Given the description of an element on the screen output the (x, y) to click on. 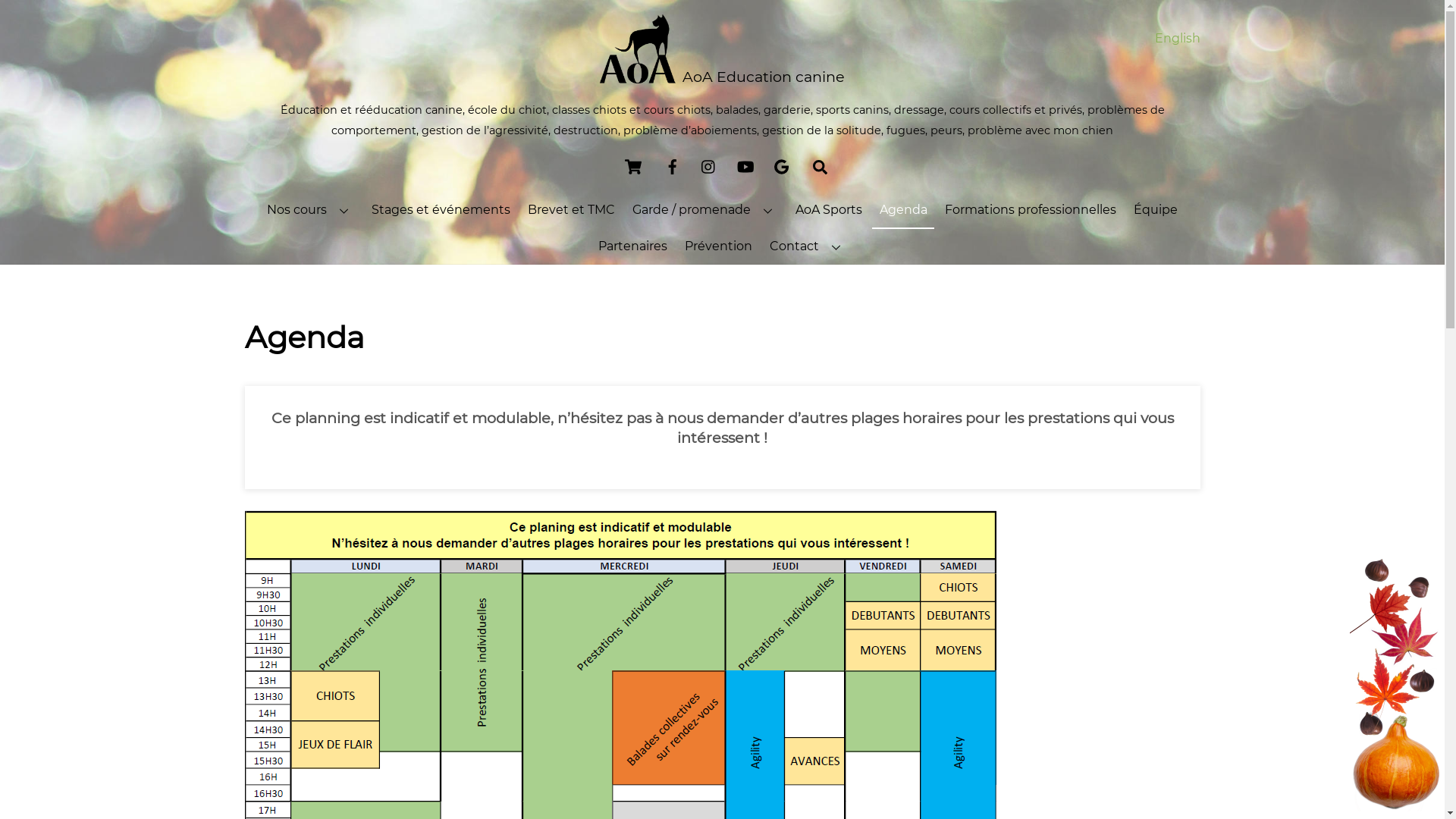
Contact Element type: text (807, 246)
Partenaires Element type: text (632, 246)
English Element type: text (1176, 38)
AoA Sports Element type: text (828, 210)
Automne02 Element type: hover (1394, 680)
Garde / promenade Element type: text (704, 210)
Panier Element type: text (632, 166)
Nos cours Element type: text (309, 210)
Chercher Element type: text (819, 166)
Brevet et TMC Element type: text (570, 210)
Agenda Element type: text (903, 211)
Formations professionnelles Element type: text (1030, 210)
